Given the description of an element on the screen output the (x, y) to click on. 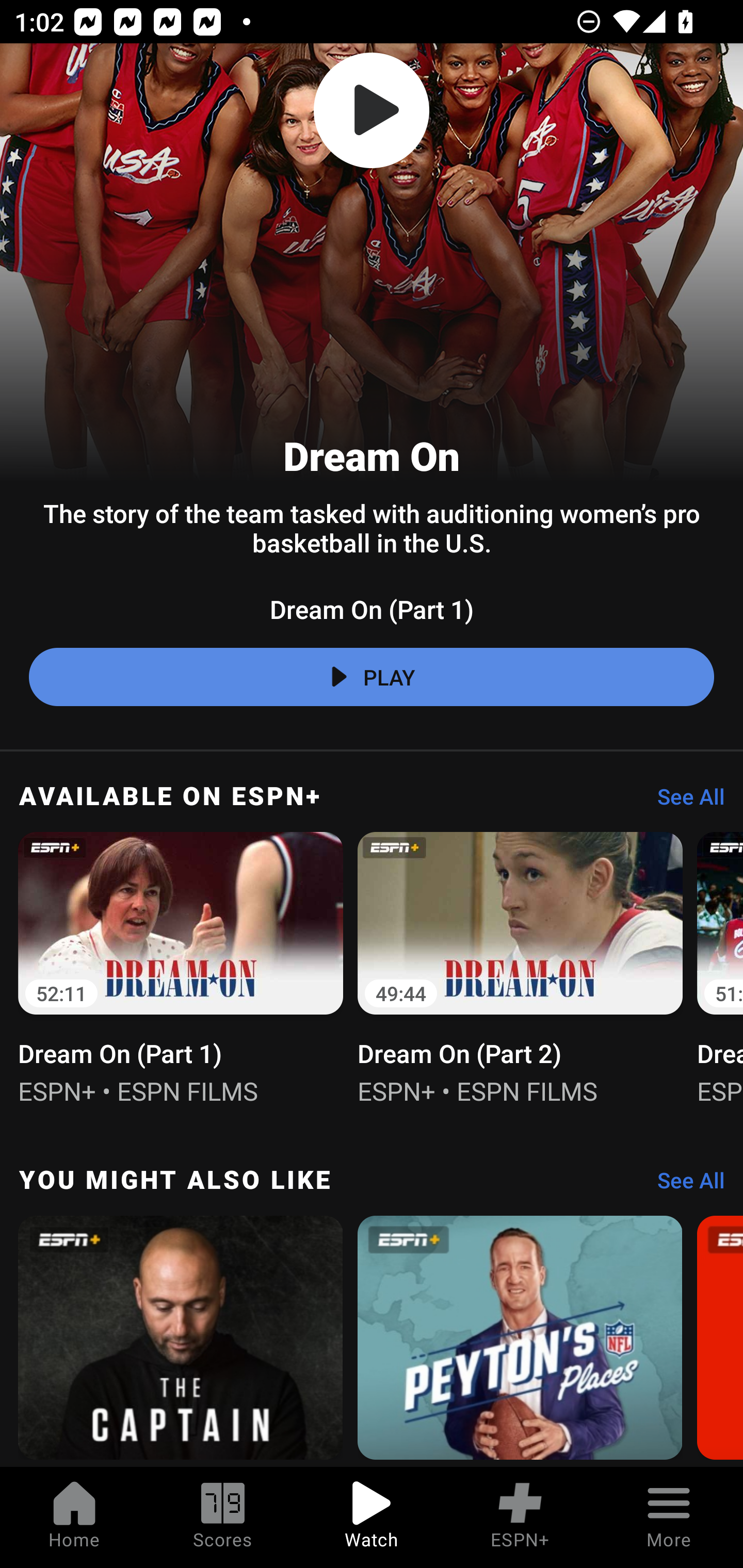
 (371, 110)
PLAY (371, 676)
See All (683, 800)
52:11 Dream On (Part 1) ESPN+ • ESPN FILMS (180, 966)
49:44 Dream On (Part 2) ESPN+ • ESPN FILMS (519, 966)
See All (683, 1184)
Home (74, 1517)
Scores (222, 1517)
ESPN+ (519, 1517)
More (668, 1517)
